Given the description of an element on the screen output the (x, y) to click on. 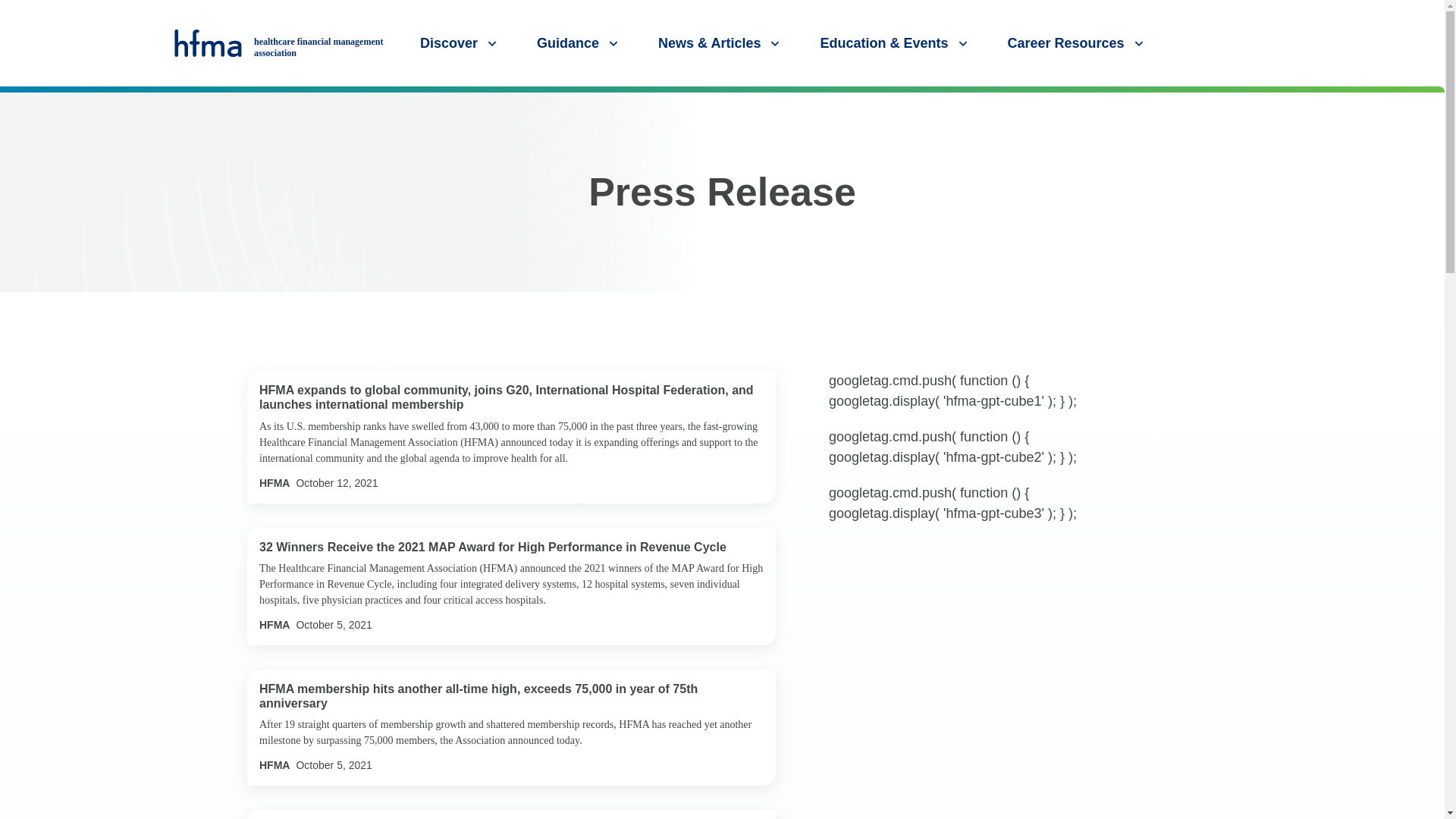
Career Resources (1077, 42)
Discover (460, 42)
Submit (1427, 101)
Guidance (579, 42)
